Given the description of an element on the screen output the (x, y) to click on. 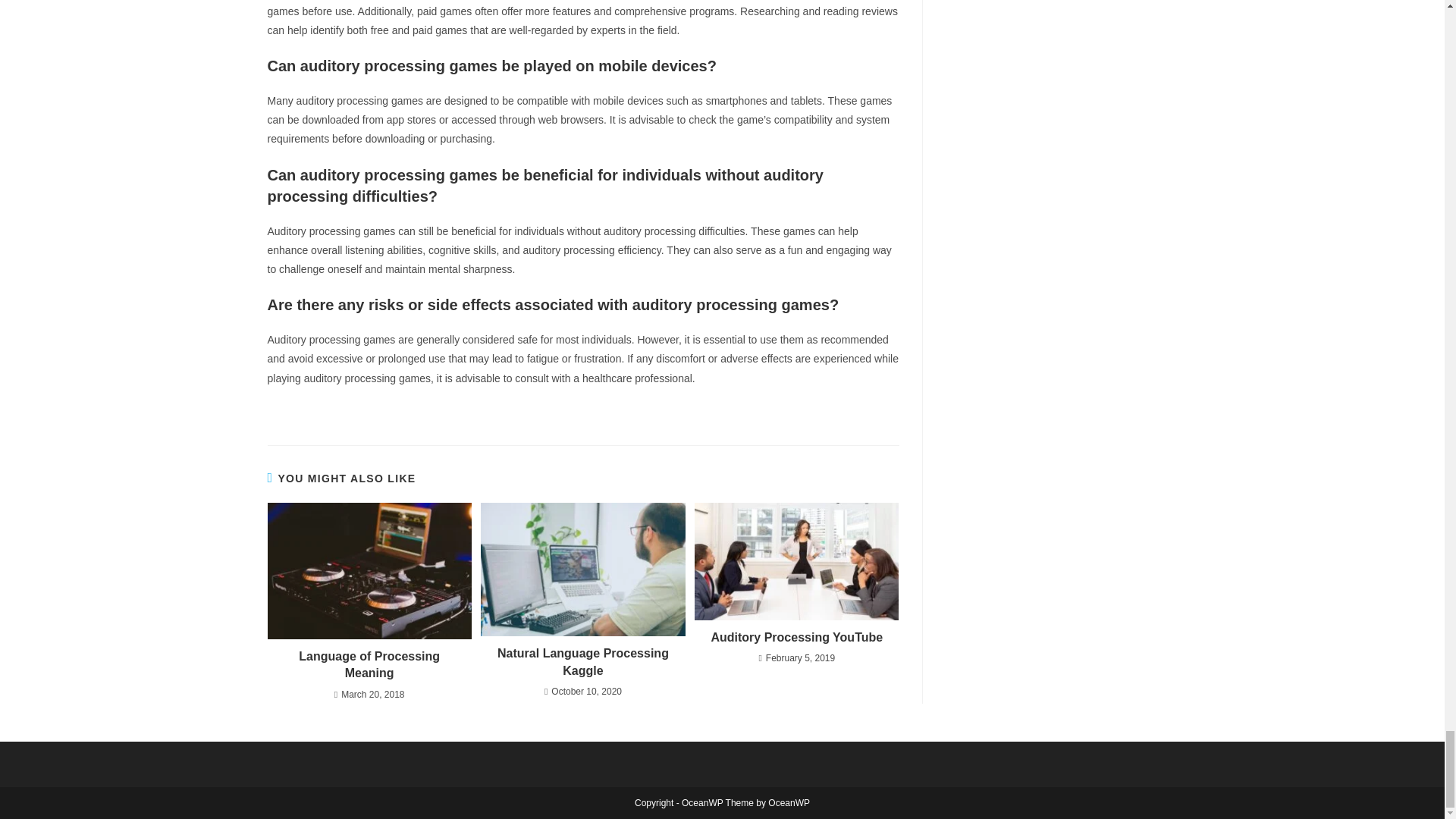
Language of Processing Meaning (368, 665)
Auditory Processing YouTube (796, 637)
Natural Language Processing Kaggle (582, 662)
